Given the description of an element on the screen output the (x, y) to click on. 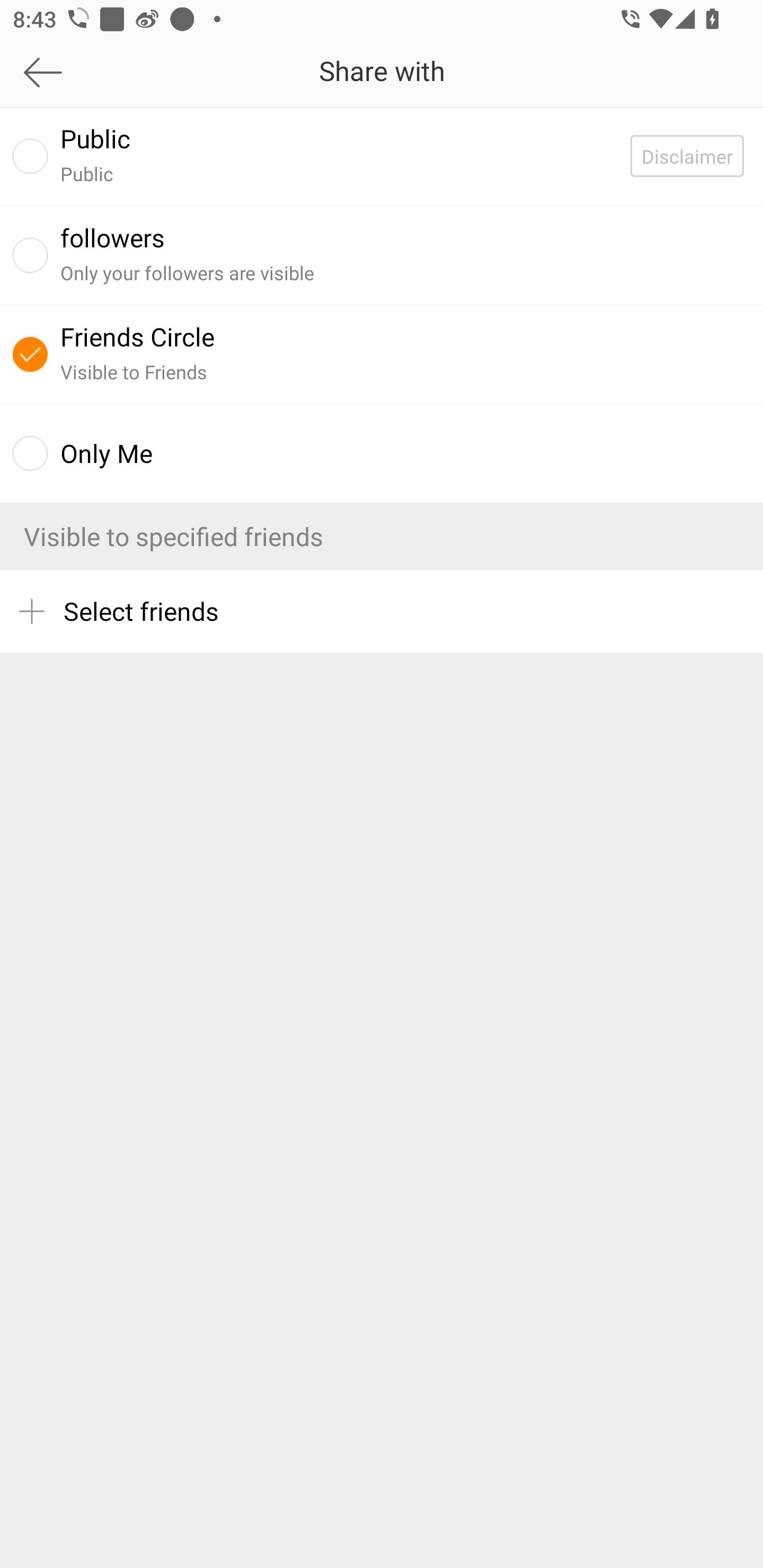
Back (100, 71)
Public Public Disclaimer (381, 155)
Disclaimer (696, 155)
followers Only your followers are visible (381, 254)
Friends Circle Visible to Friends (381, 353)
Only Me (381, 453)
Visible to specified friends (381, 536)
Select friends (381, 611)
